Given the description of an element on the screen output the (x, y) to click on. 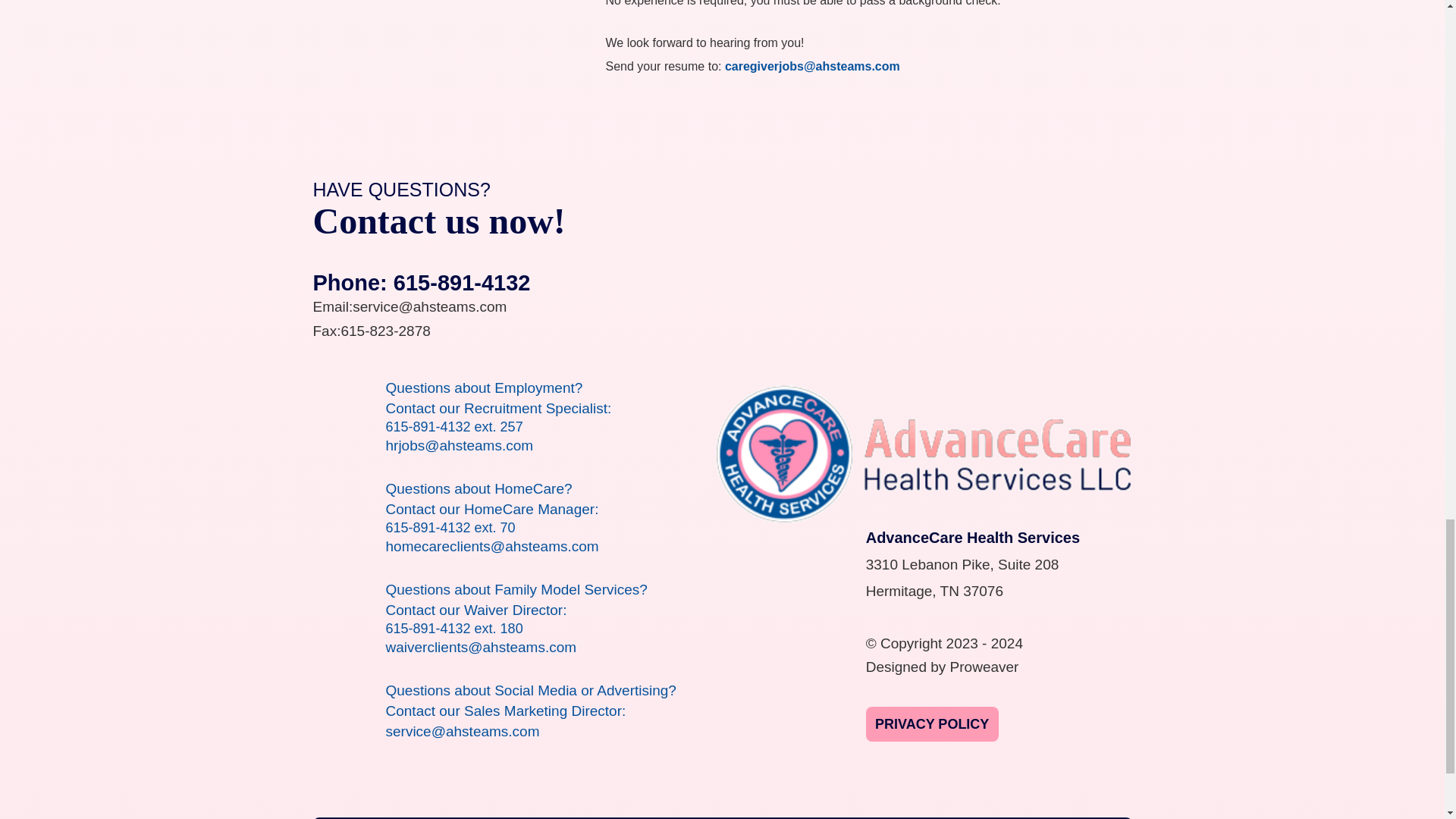
Why Choose Us? (918, 818)
Proweaver (984, 666)
Careers (1073, 818)
HomeCare (437, 818)
Home (363, 818)
PRIVACY POLICY (932, 724)
Designed by (906, 666)
Blog (1011, 818)
